Given the description of an element on the screen output the (x, y) to click on. 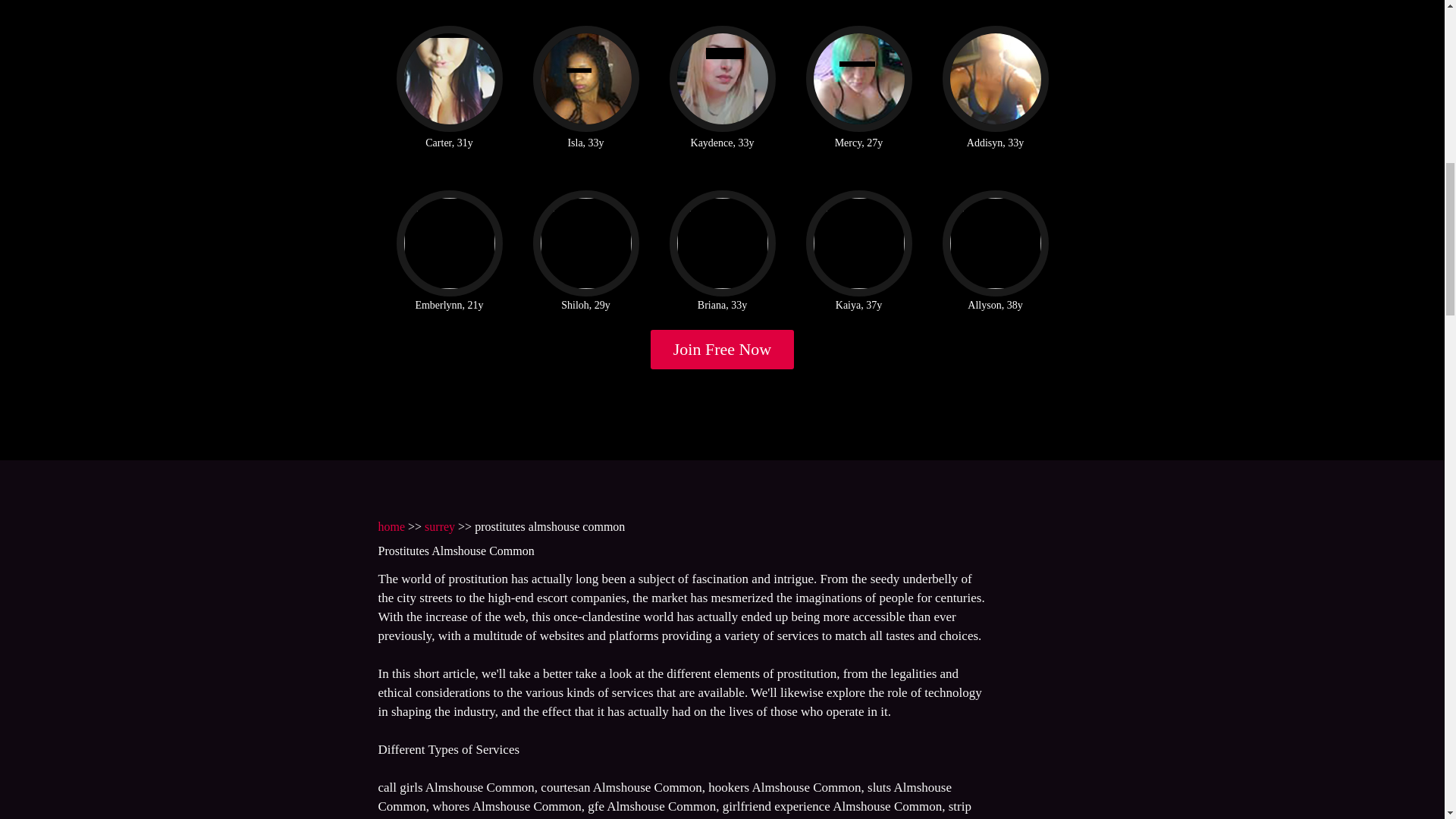
home (390, 526)
Join (722, 349)
Join Free Now (722, 349)
surrey (439, 526)
